Given the description of an element on the screen output the (x, y) to click on. 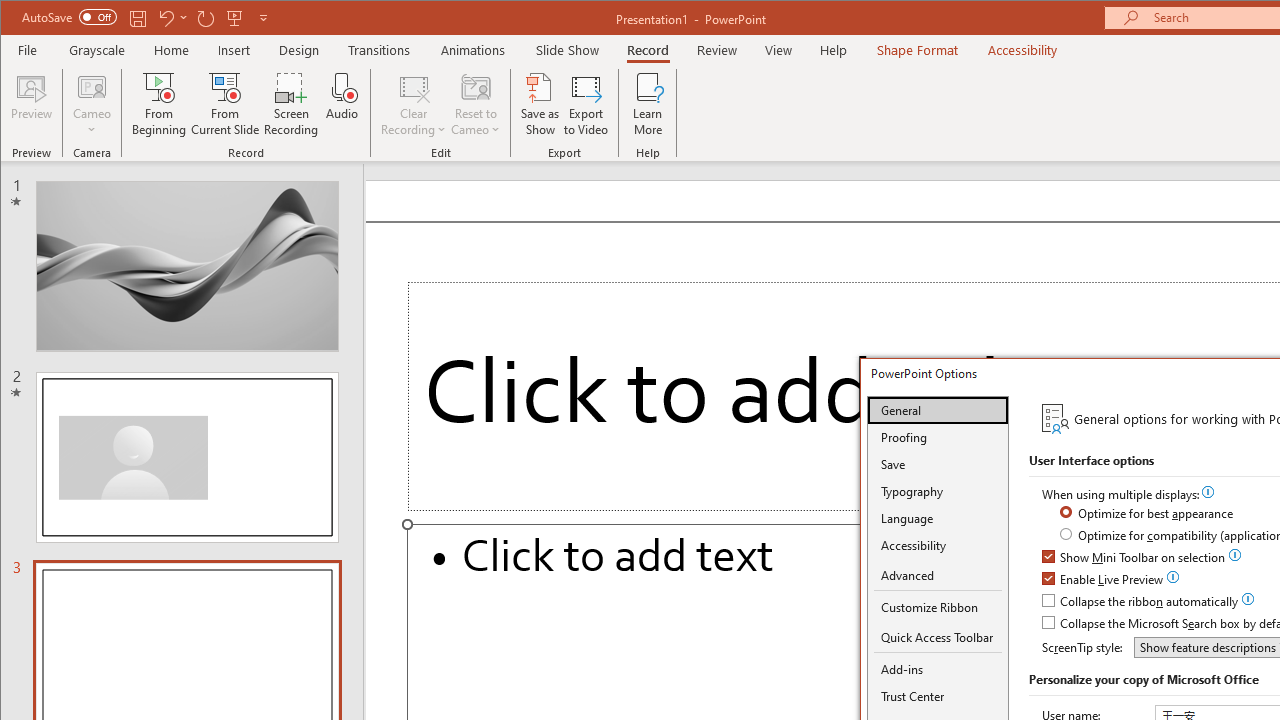
General (937, 410)
From Beginning... (159, 104)
Show Mini Toolbar on selection (1134, 558)
Clear Recording (413, 104)
Learn More (648, 104)
Screen Recording (291, 104)
